Given the description of an element on the screen output the (x, y) to click on. 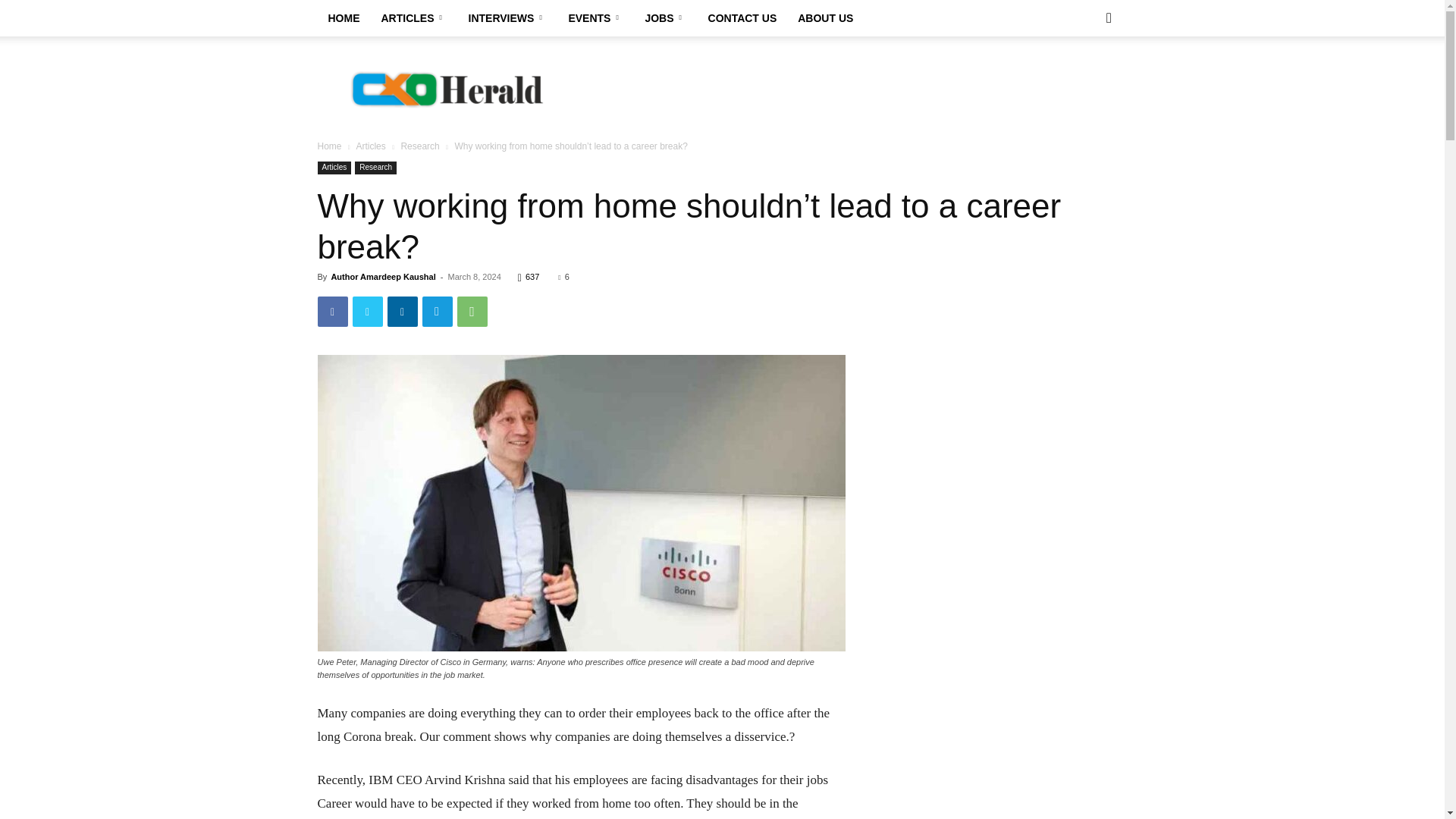
View all posts in Articles (370, 145)
Telegram (436, 311)
ARTICLES (413, 18)
HOME (343, 18)
WhatsApp (471, 311)
Facebook (332, 311)
View all posts in Research (419, 145)
Twitter (366, 311)
Linkedin (401, 311)
